Given the description of an element on the screen output the (x, y) to click on. 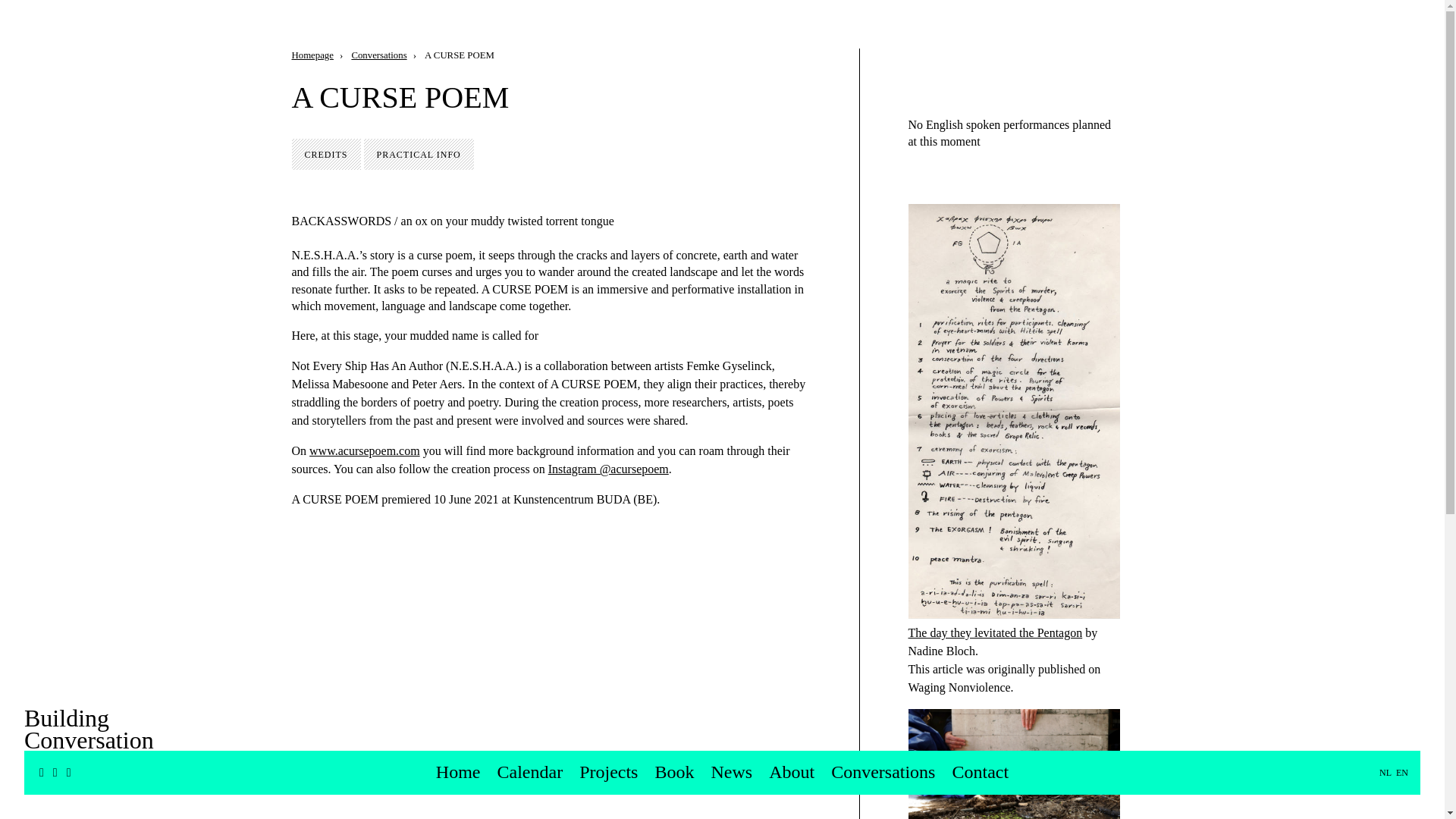
Calendar (530, 772)
News (731, 772)
CREDITS (325, 153)
Contact (980, 772)
 NL (1384, 772)
About (790, 772)
 EN (1400, 772)
Book (673, 772)
Conversations (378, 54)
EN (1400, 772)
